Given the description of an element on the screen output the (x, y) to click on. 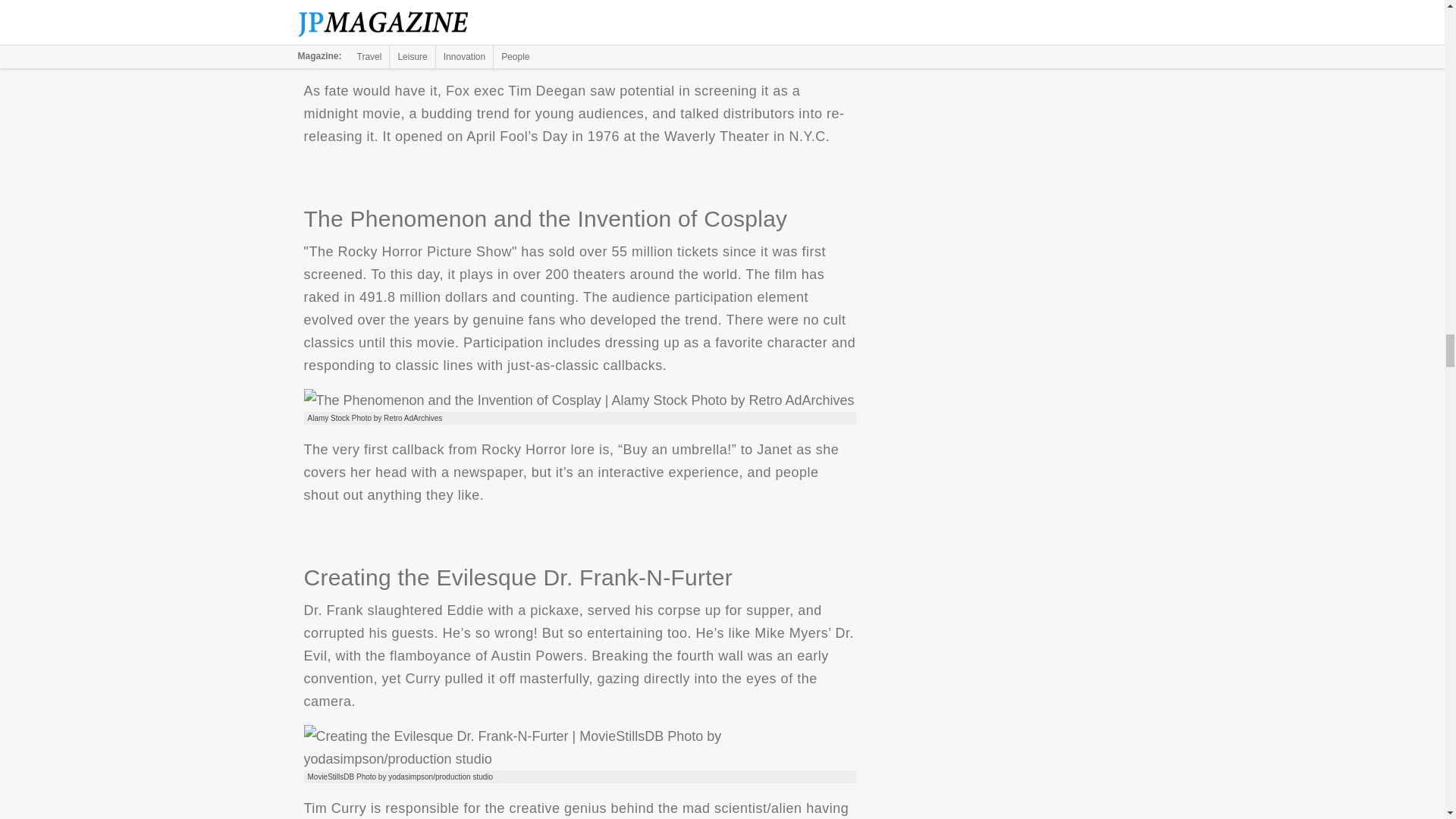
The Phenomenon and the Invention of Cosplay (577, 400)
Creating the Evilesque Dr. Frank-N-Furter (579, 747)
It Tanked in Theaters (517, 41)
